Given the description of an element on the screen output the (x, y) to click on. 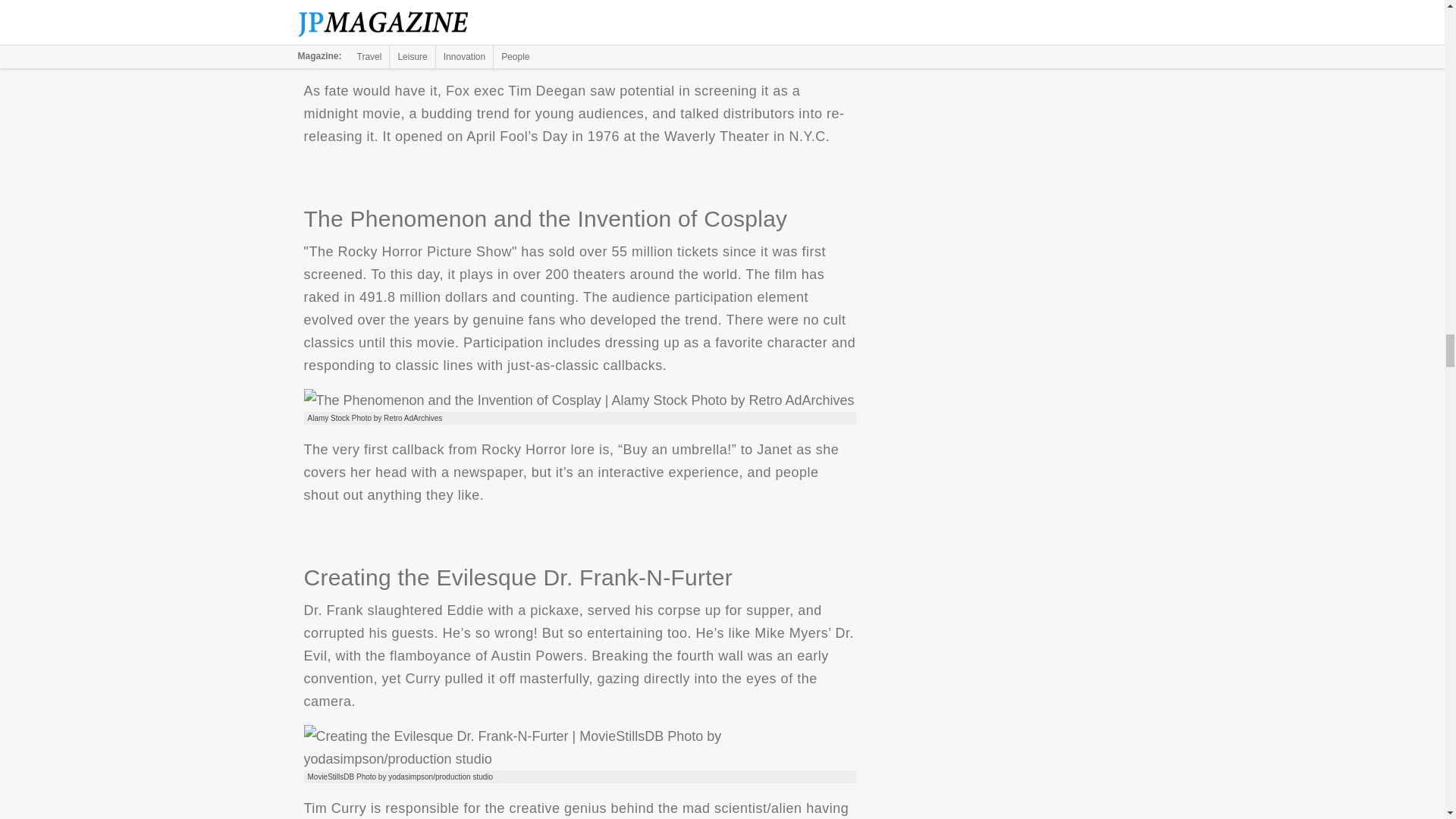
The Phenomenon and the Invention of Cosplay (577, 400)
Creating the Evilesque Dr. Frank-N-Furter (579, 747)
It Tanked in Theaters (517, 41)
